Given the description of an element on the screen output the (x, y) to click on. 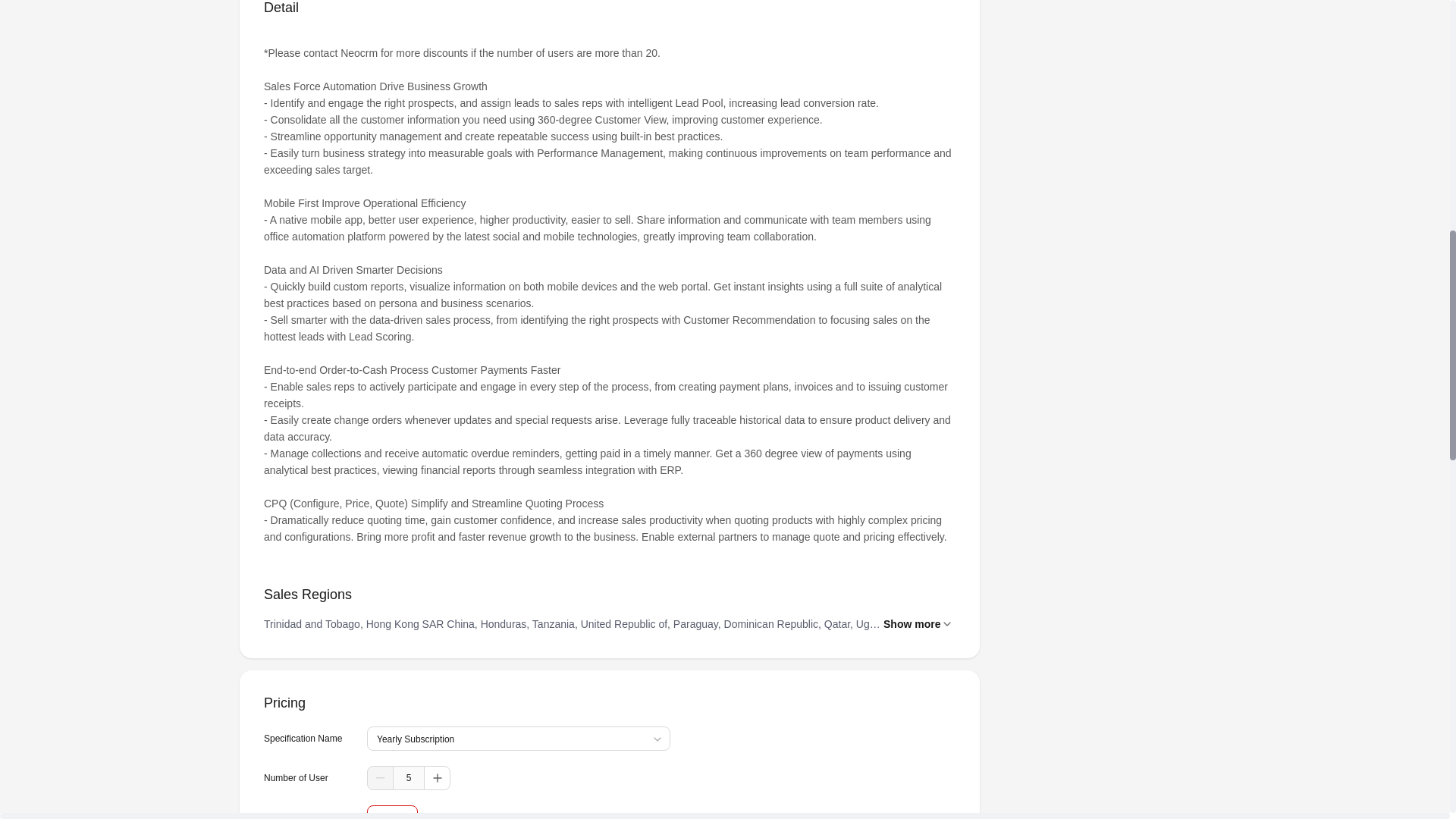
5 (408, 777)
